Given the description of an element on the screen output the (x, y) to click on. 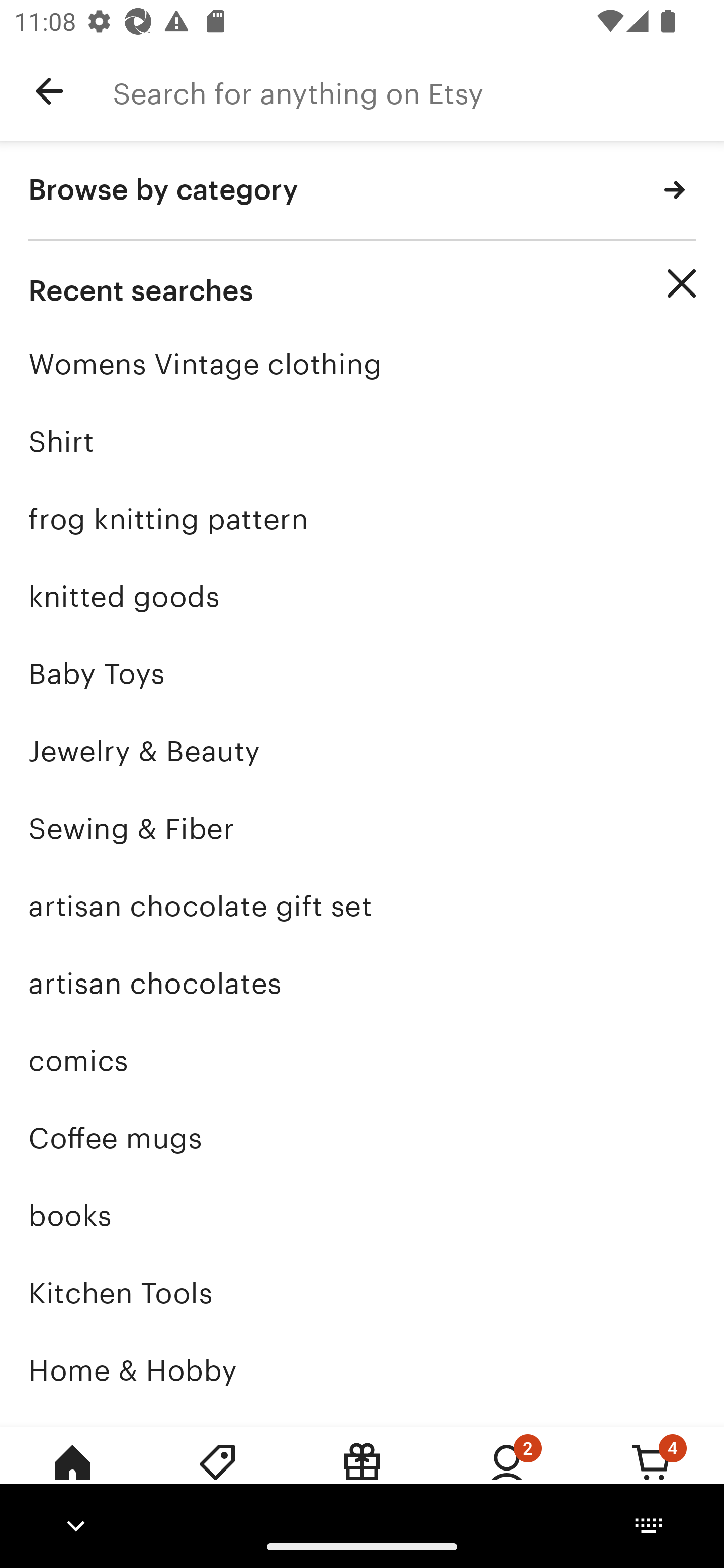
Navigate up (49, 91)
Search for anything on Etsy (418, 91)
Browse by category (362, 191)
Clear (681, 283)
Womens Vintage clothing (362, 364)
Shirt (362, 440)
frog knitting pattern (362, 518)
knitted goods (362, 596)
Baby Toys (362, 673)
Jewelry & Beauty (362, 750)
Sewing & Fiber (362, 828)
artisan chocolate gift set (362, 906)
artisan chocolates (362, 983)
comics (362, 1060)
Coffee mugs (362, 1138)
books (362, 1215)
Kitchen Tools (362, 1292)
Home & Hobby (362, 1370)
Deals (216, 1475)
Gift Mode (361, 1475)
You, 2 new notifications (506, 1475)
Cart, 4 new notifications (651, 1475)
